Given the description of an element on the screen output the (x, y) to click on. 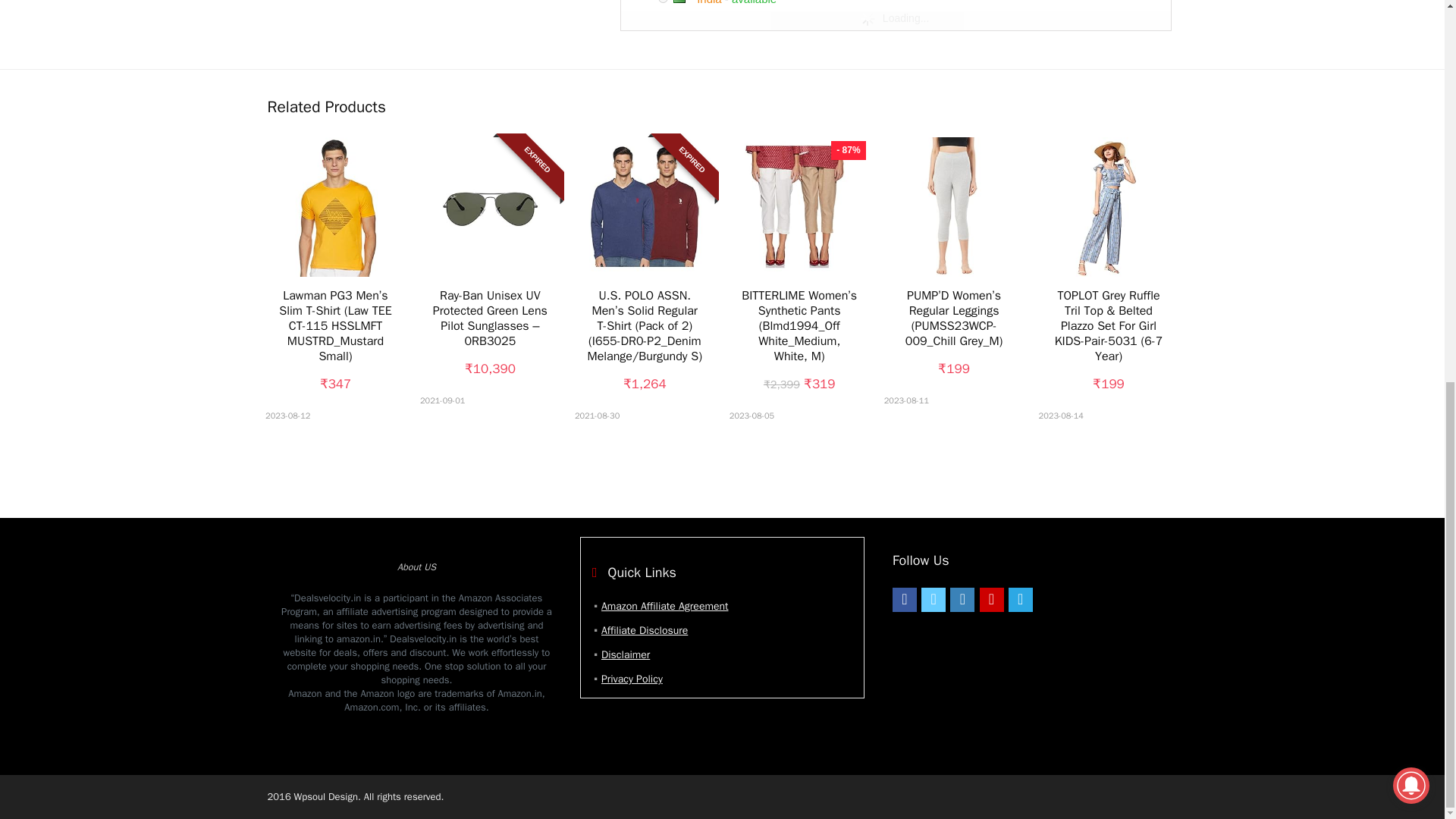
India (684, 2)
India (709, 2)
